Given the description of an element on the screen output the (x, y) to click on. 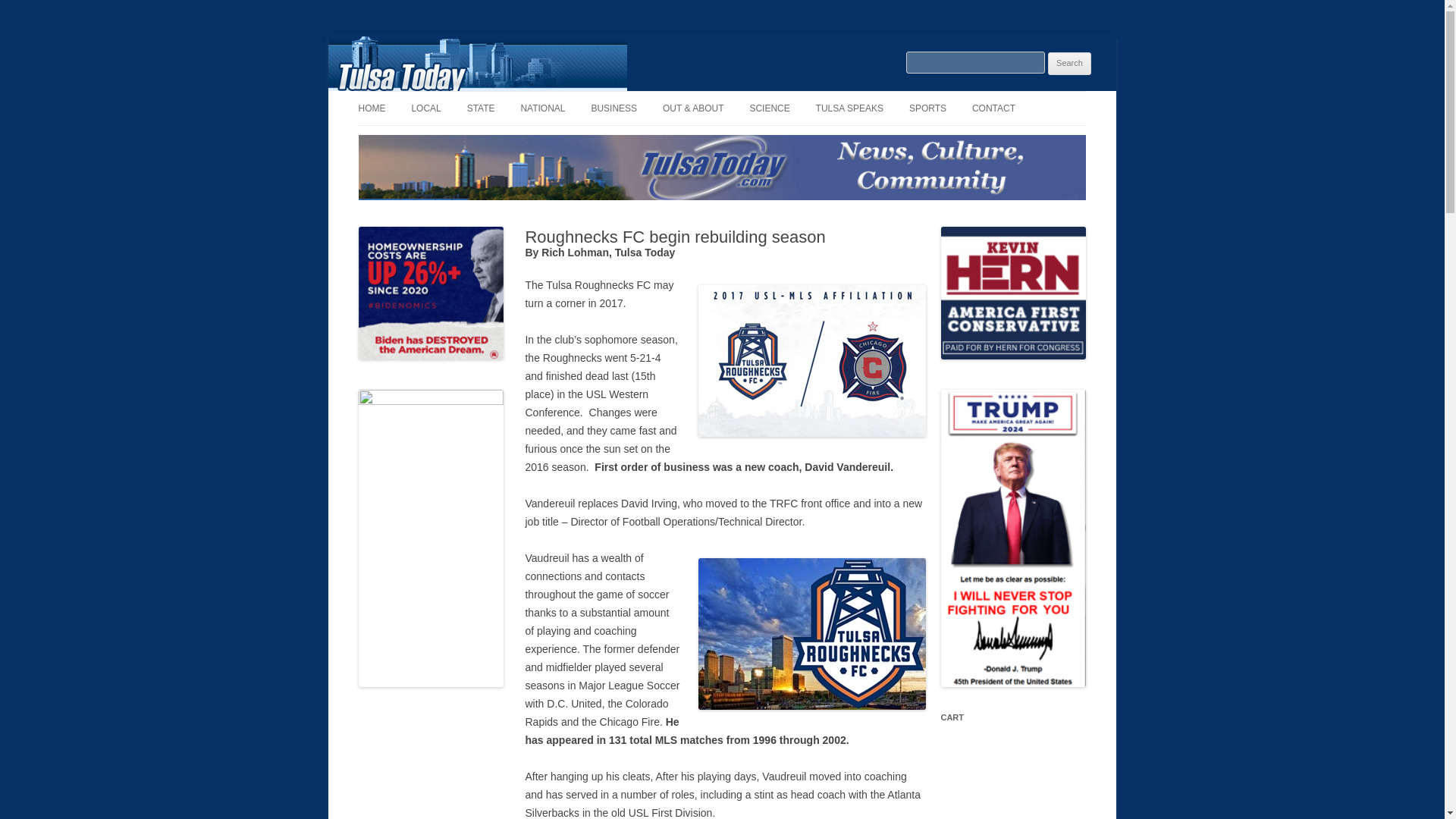
Skip to content (757, 95)
Search (1069, 63)
SCIENCE (769, 108)
Skip to content (757, 95)
NATIONAL (541, 108)
Search (1069, 63)
CONTACT (993, 108)
BUSINESS (614, 108)
SPORTS (927, 108)
TULSA SPEAKS (849, 108)
